Given the description of an element on the screen output the (x, y) to click on. 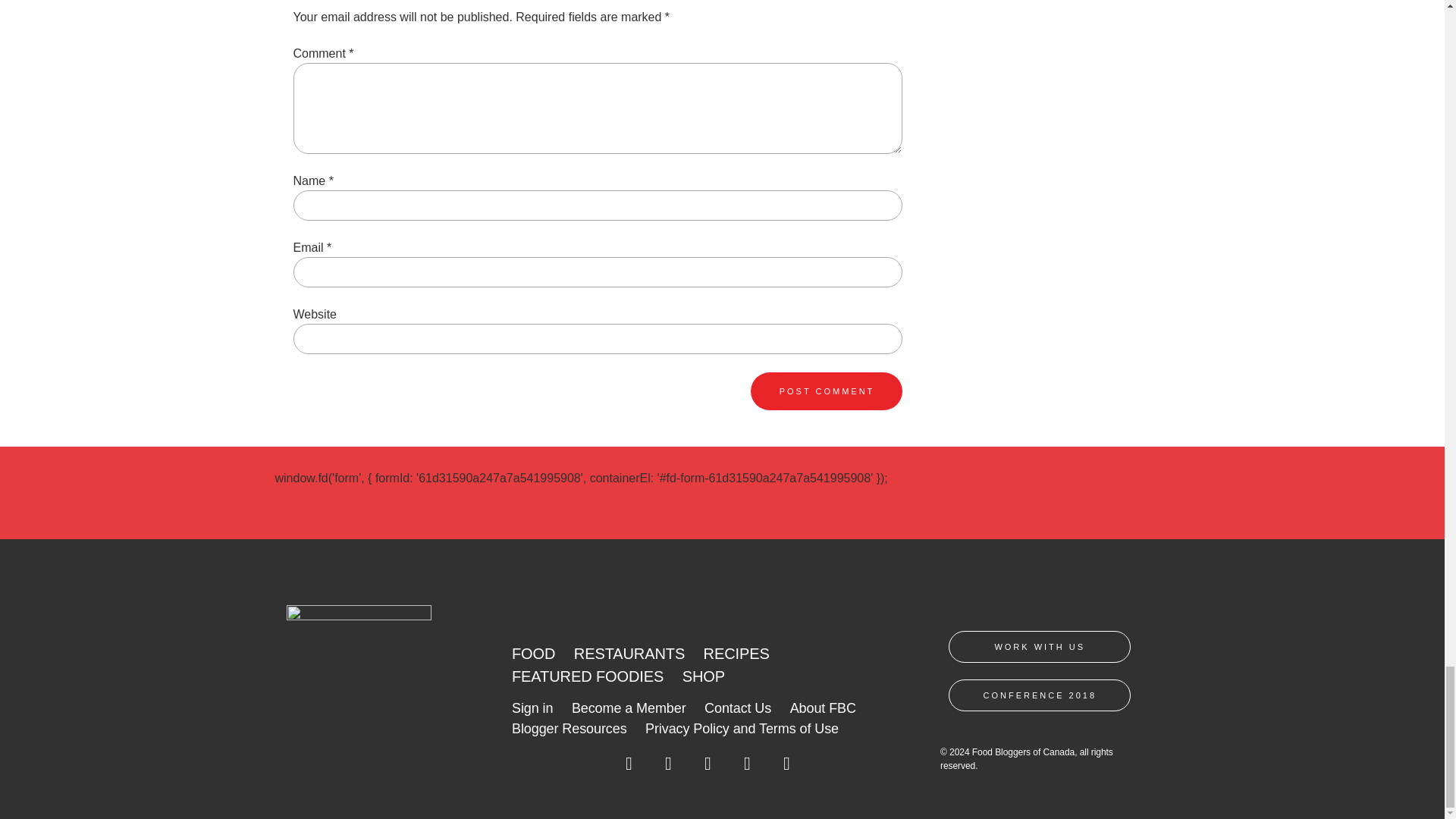
Post Comment (826, 391)
